Given the description of an element on the screen output the (x, y) to click on. 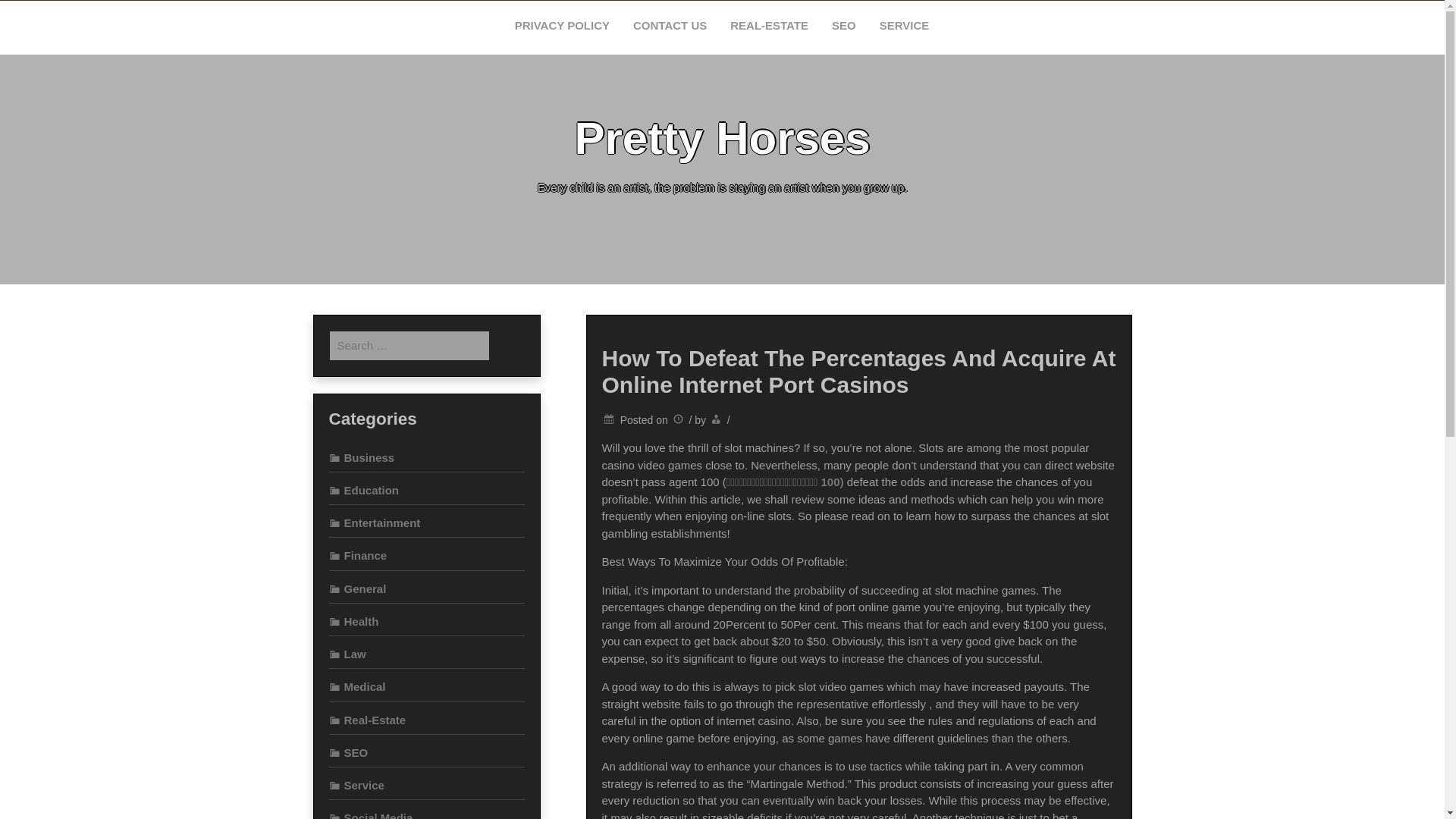
Social Media (371, 815)
PRIVACY POLICY (562, 25)
Pretty Horses (721, 138)
SERVICE (904, 25)
SEO (844, 25)
Real-Estate (367, 719)
SEO (348, 752)
Service (356, 784)
Health (353, 621)
Law (347, 653)
